Given the description of an element on the screen output the (x, y) to click on. 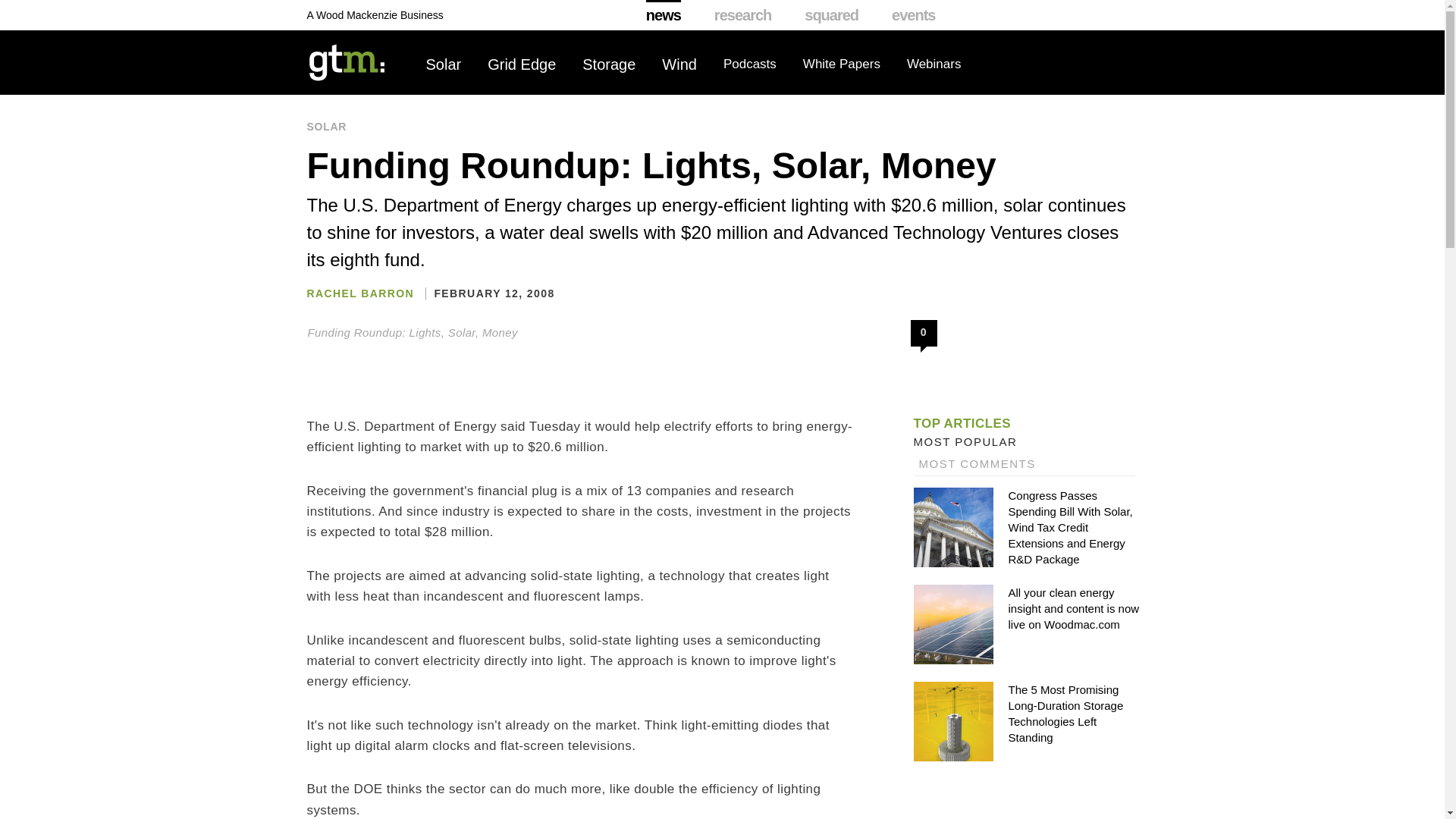
research (742, 15)
Wind (679, 64)
events (912, 15)
Storage (608, 64)
White Papers (841, 64)
news (663, 15)
squared (832, 15)
Solar (443, 64)
Podcasts (749, 64)
Grid Edge (521, 64)
